Given the description of an element on the screen output the (x, y) to click on. 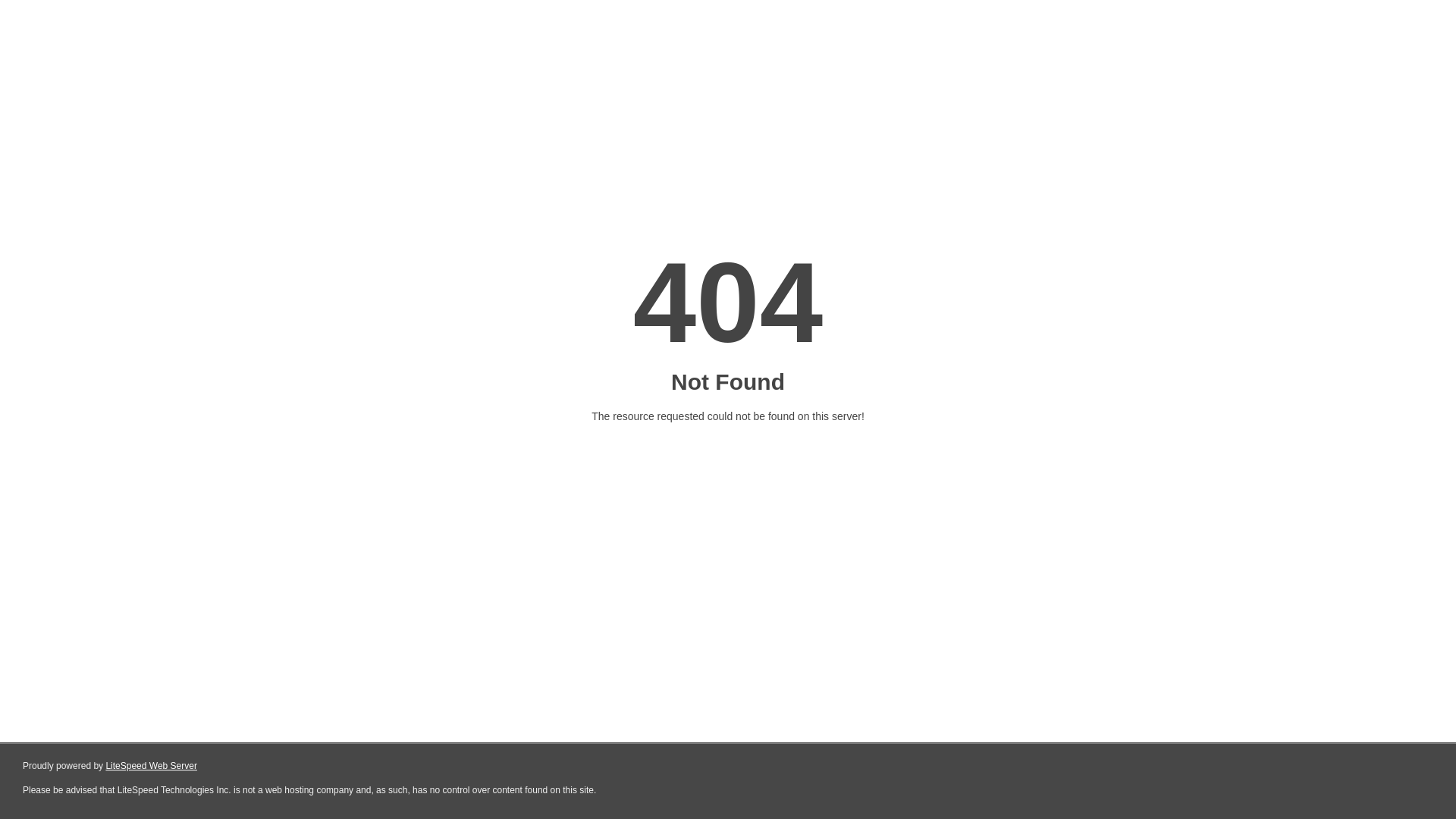
LiteSpeed Web Server Element type: text (151, 765)
